Given the description of an element on the screen output the (x, y) to click on. 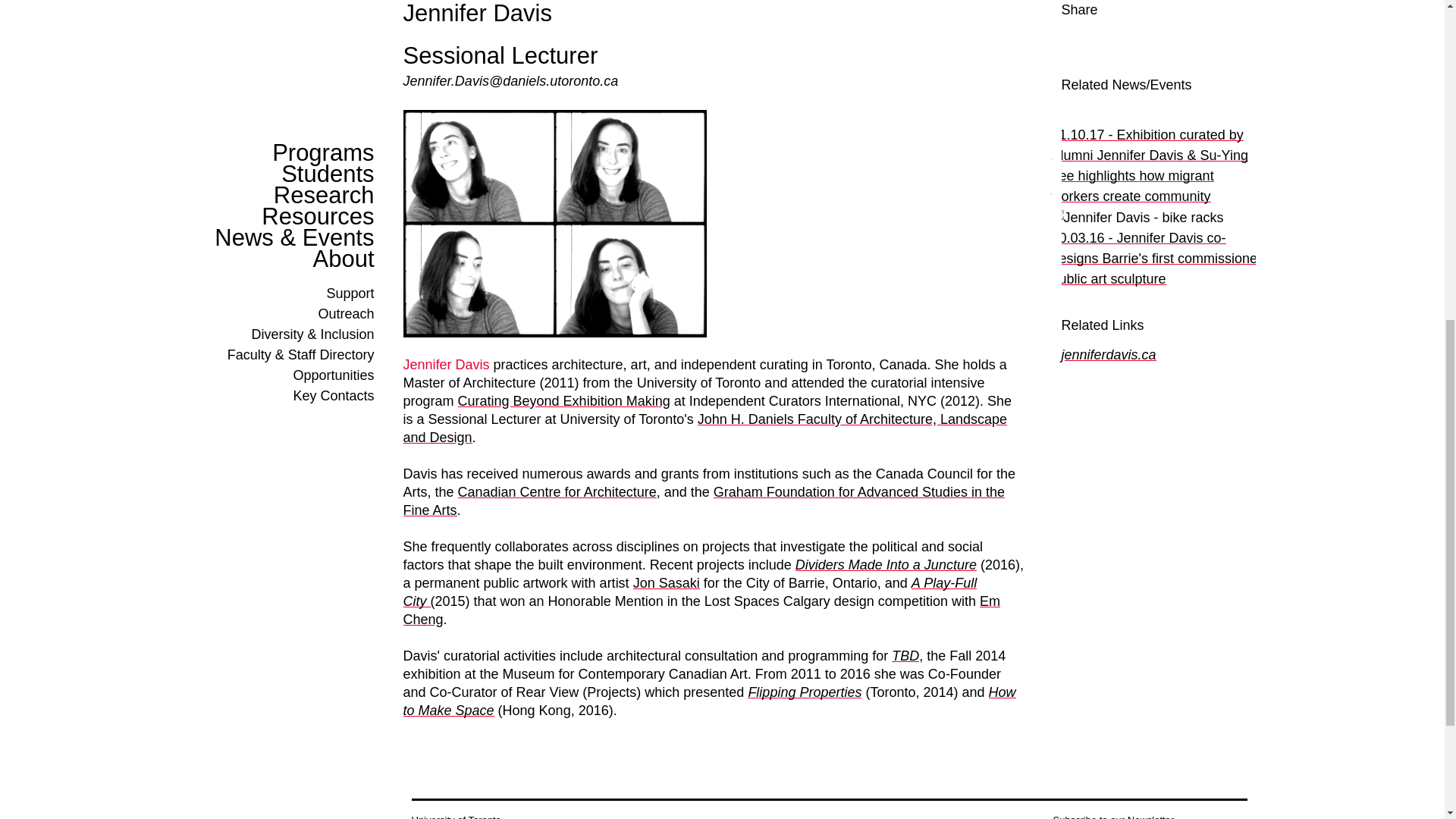
ICI  (563, 400)
Jon Sasaki (666, 582)
Graham Foundation for Advanced Studies in the Fine Arts (704, 500)
Em Cheng (701, 610)
jenniferdavis.ca (1108, 354)
TBD (904, 655)
Flipping Properties (804, 692)
A Play-Full City  (689, 592)
How to Make Space (709, 701)
